Given the description of an element on the screen output the (x, y) to click on. 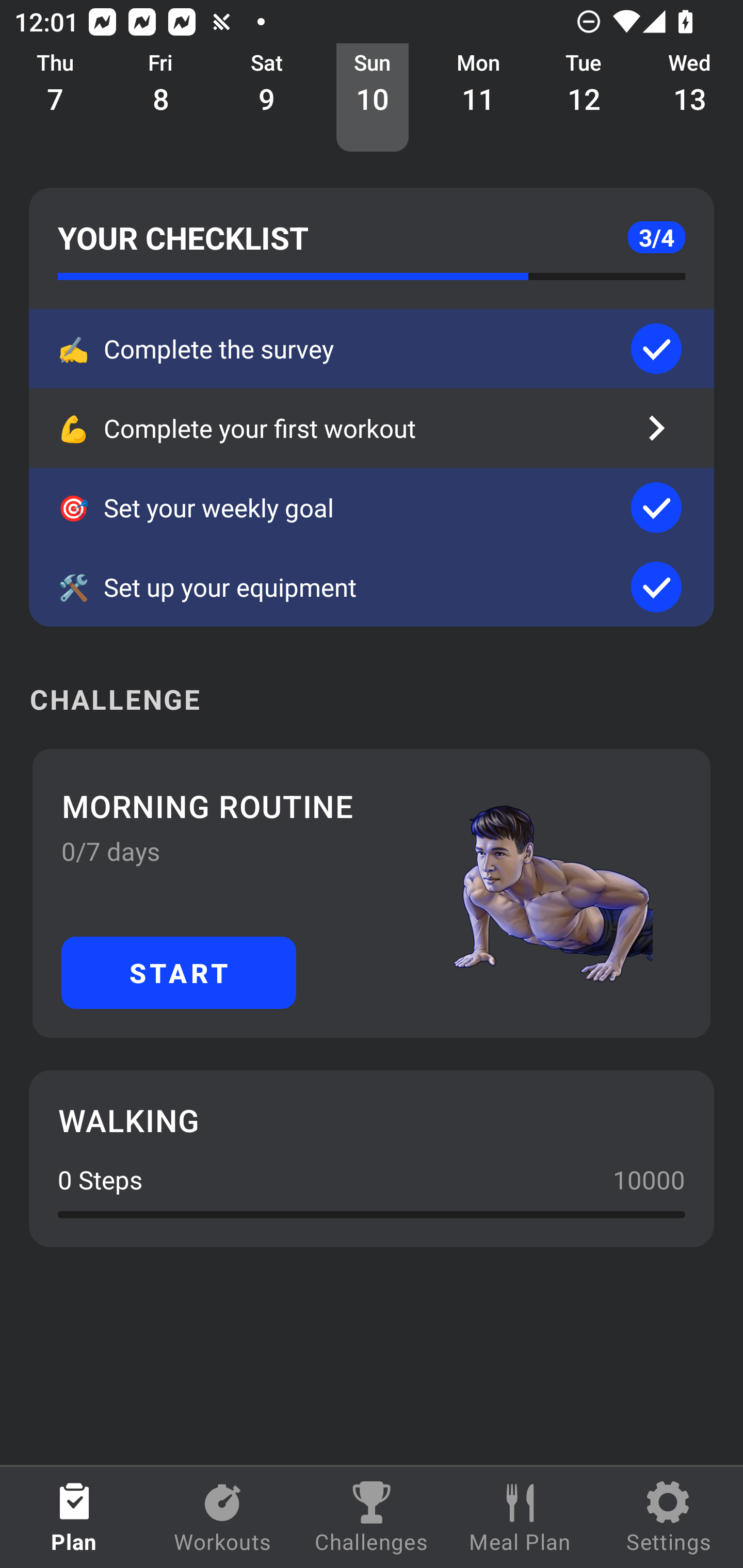
Thu 7 (55, 97)
Fri 8 (160, 97)
Sat 9 (266, 97)
Sun 10 (372, 97)
Mon 11 (478, 97)
Tue 12 (584, 97)
Wed 13 (690, 97)
💪 Complete your first workout (371, 427)
MORNING ROUTINE 0/7 days START (371, 892)
START (178, 972)
WALKING 0 Steps 10000 0.0 (371, 1158)
 Workouts  (222, 1517)
 Challenges  (371, 1517)
 Meal Plan  (519, 1517)
 Settings  (668, 1517)
